Given the description of an element on the screen output the (x, y) to click on. 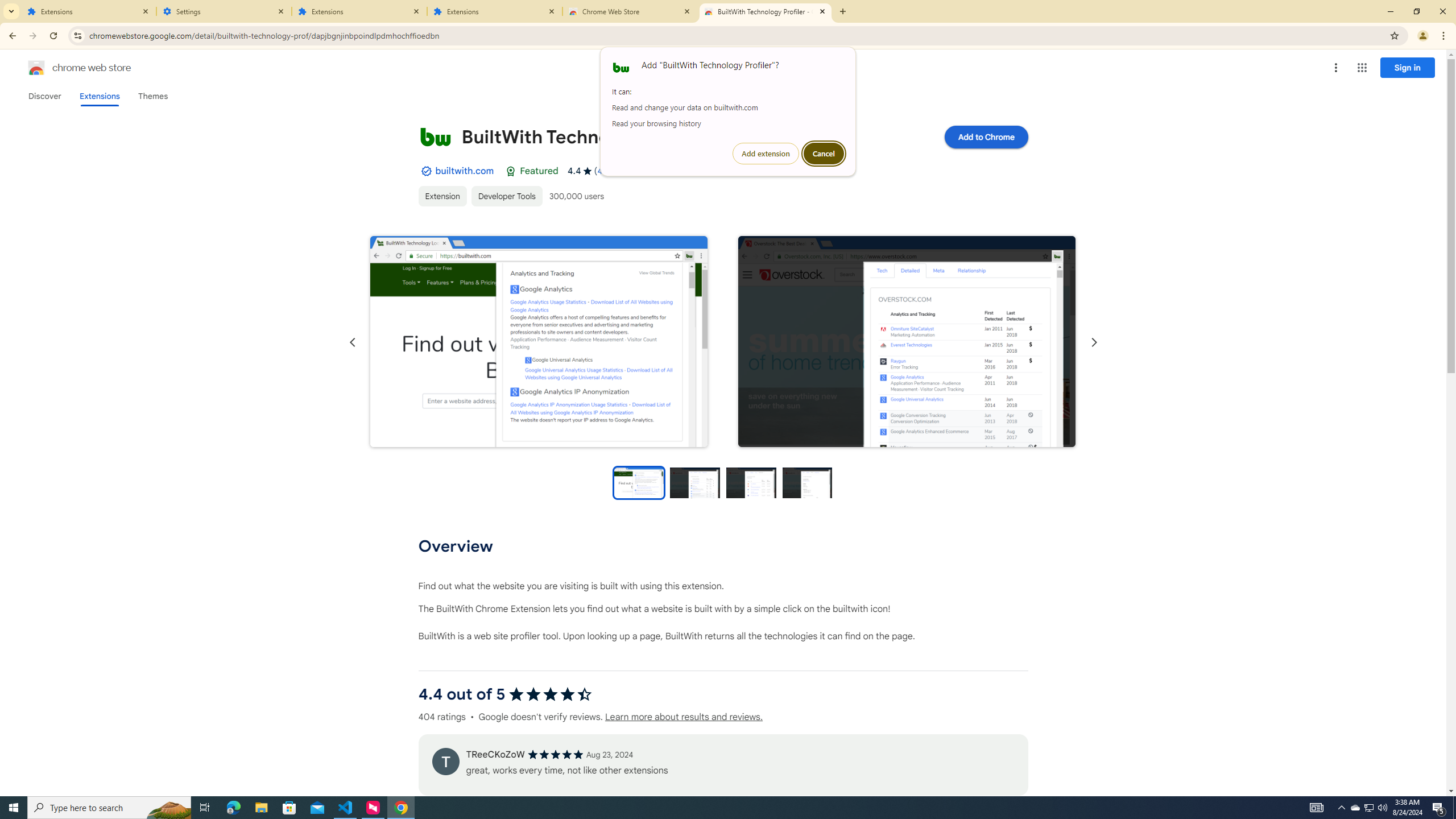
Item logo image for BuiltWith Technology Profiler (434, 136)
Developer Tools (506, 195)
Add extension (765, 153)
By Established Publisher Badge (425, 170)
AutomationID: 4105 (1316, 807)
Start (13, 807)
Chrome Web Store logo chrome web store (67, 67)
Search highlights icon opens search home window (167, 807)
Item media 2 screenshot (906, 342)
Review's profile picture (445, 760)
Google Chrome - 1 running window (400, 807)
